Given the description of an element on the screen output the (x, y) to click on. 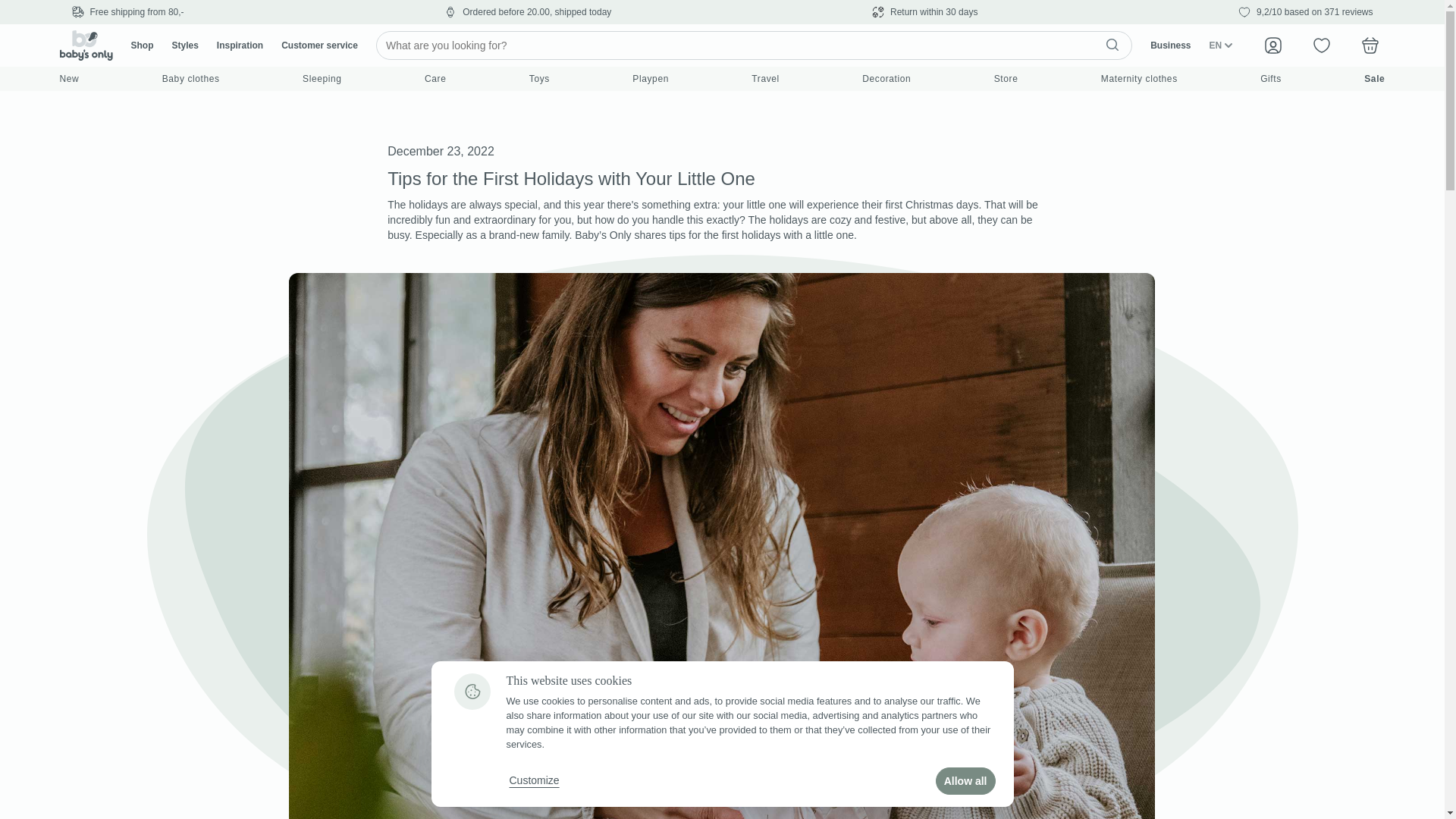
Allow all (965, 780)
Toys (539, 78)
Travel (764, 78)
Sale (1374, 78)
Travel (764, 78)
Sleeping (322, 78)
Maternity clothes (1138, 78)
Sale (1374, 78)
New (68, 78)
Baby clothes (190, 78)
Customize (534, 780)
Sleeping (322, 78)
Store (1005, 78)
New (68, 78)
